Given the description of an element on the screen output the (x, y) to click on. 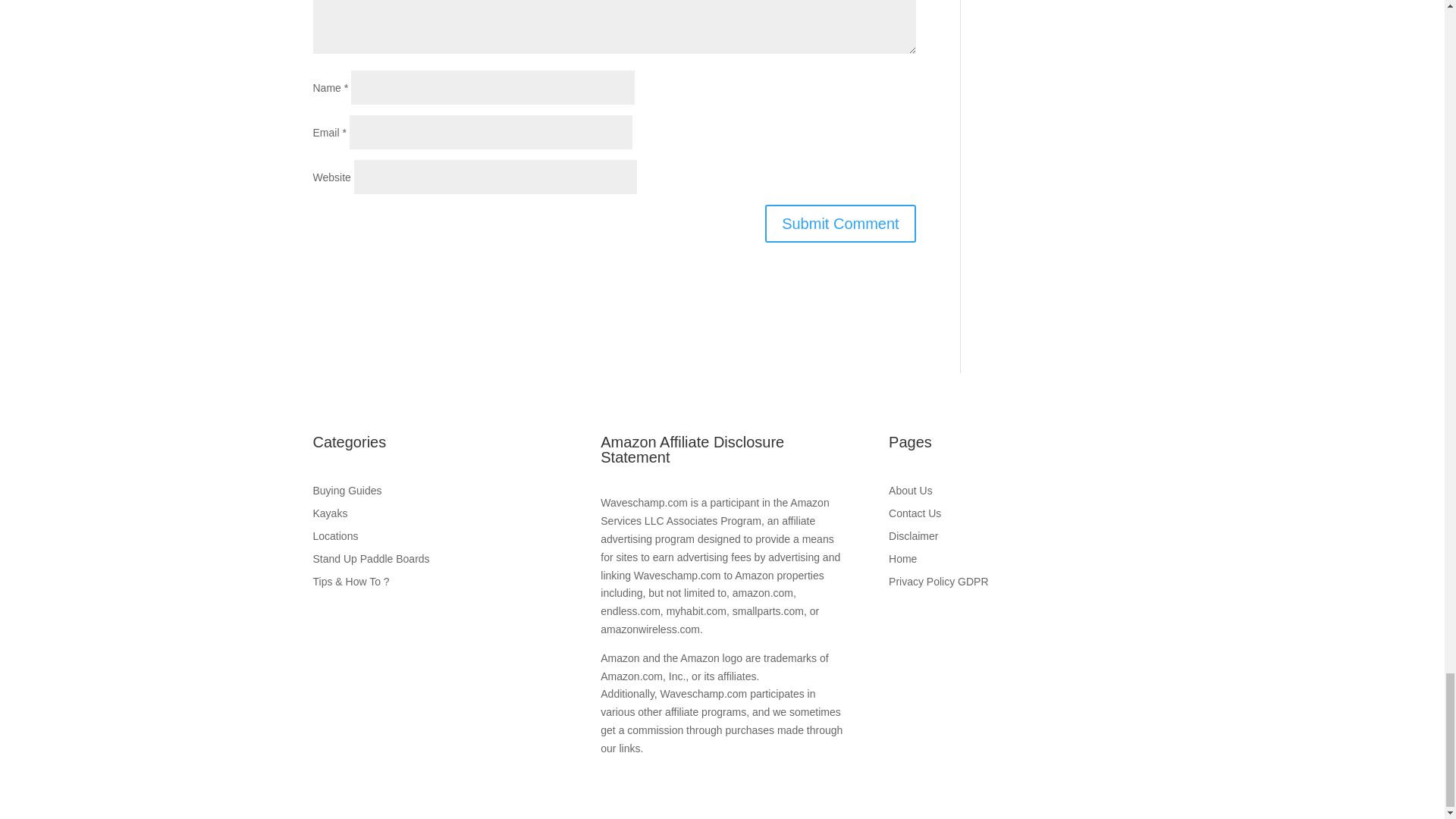
Submit Comment (840, 223)
Locations (433, 538)
Kayaks (433, 515)
Buying Guides (433, 493)
Submit Comment (840, 223)
